Given the description of an element on the screen output the (x, y) to click on. 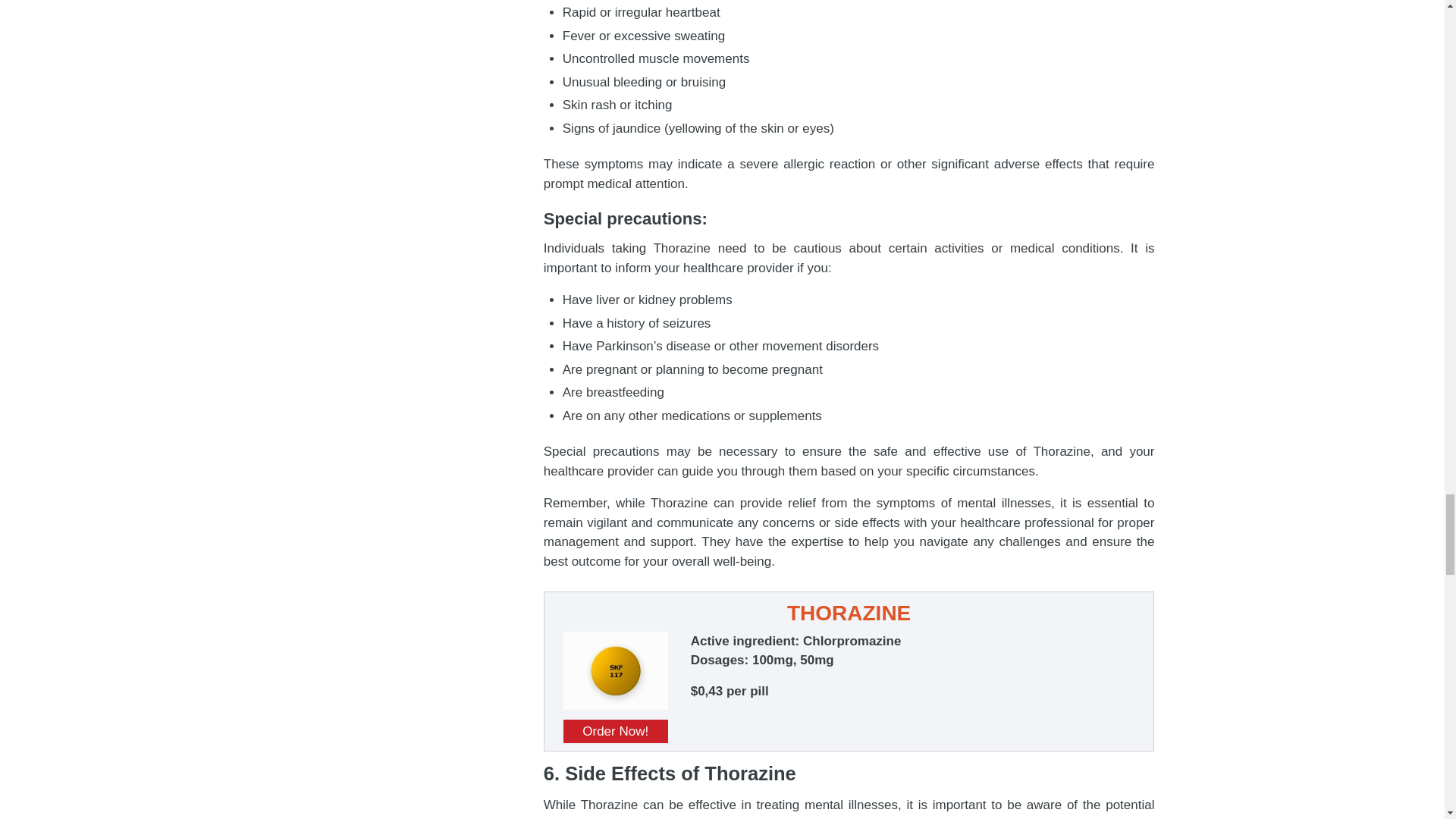
Order Now! (615, 731)
Order Now! (615, 731)
Thorazine (615, 705)
